Given the description of an element on the screen output the (x, y) to click on. 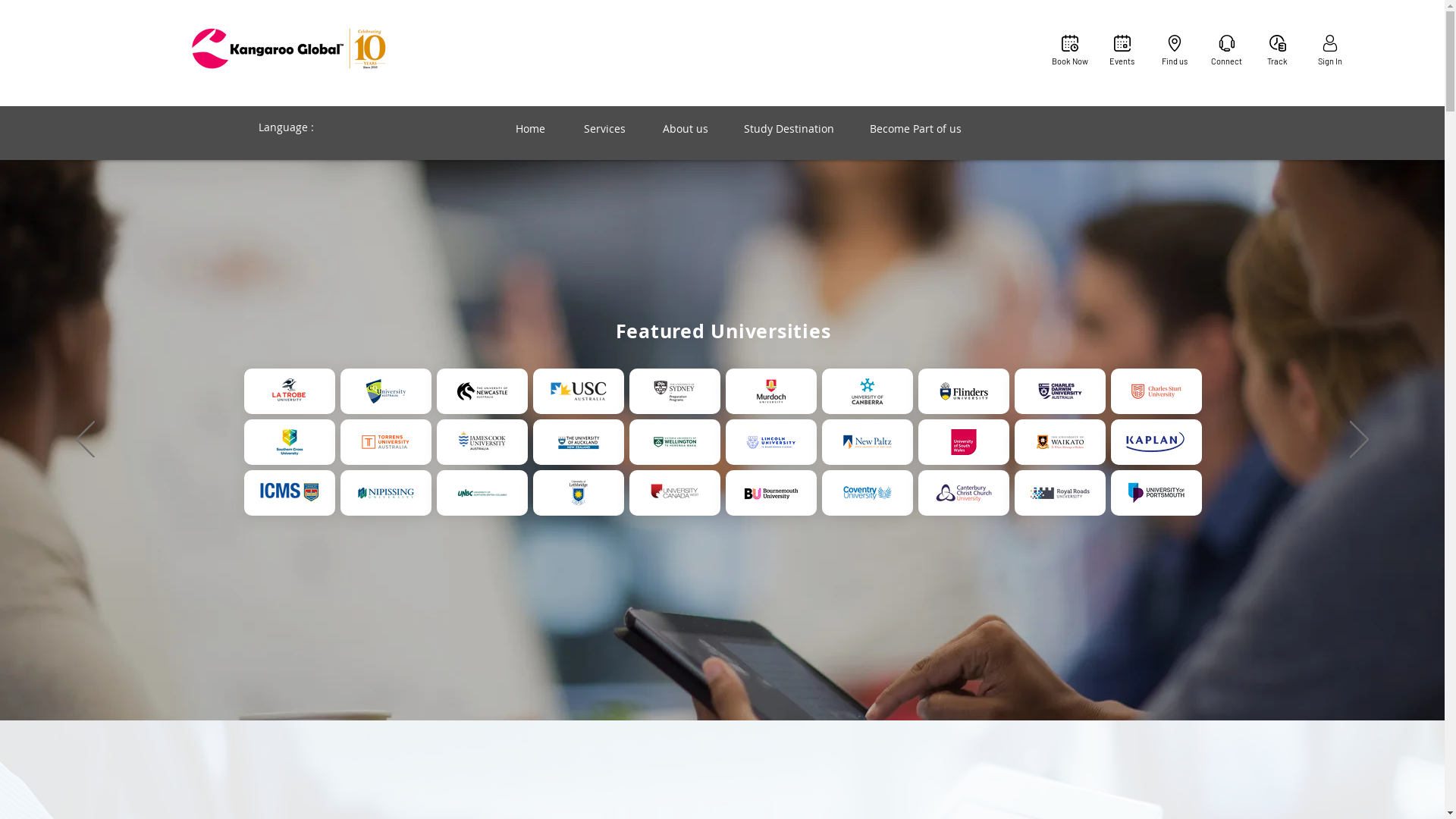
32.png Element type: hover (867, 441)
11.png Element type: hover (1059, 391)
31.png Element type: hover (289, 492)
Home Element type: text (529, 128)
About us Element type: text (684, 128)
42.png Element type: hover (962, 391)
43.png Element type: hover (962, 441)
39.png Element type: hover (867, 492)
Track Element type: text (1277, 50)
17.png Element type: hover (577, 441)
Events Element type: text (1121, 50)
8.png Element type: hover (674, 391)
45.png Element type: hover (769, 441)
13.png Element type: hover (384, 391)
30.png Element type: hover (1155, 441)
Book Now Element type: text (1069, 50)
6.png Element type: hover (289, 441)
36.png Element type: hover (481, 492)
9.png Element type: hover (1155, 391)
Services Element type: text (604, 128)
Sign In Element type: text (1329, 50)
Connect Element type: text (1226, 50)
1.png Element type: hover (289, 391)
15.png Element type: hover (1059, 441)
38.png Element type: hover (769, 492)
Become Part of us Element type: text (915, 128)
34.png Element type: hover (674, 492)
4.png Element type: hover (867, 391)
Find us Element type: text (1174, 50)
37.png Element type: hover (384, 492)
18.png Element type: hover (674, 441)
44.png Element type: hover (1155, 492)
5.png Element type: hover (384, 441)
usg logo-01-01.png Element type: hover (577, 391)
35.png Element type: hover (577, 492)
33.png Element type: hover (1059, 492)
10.png Element type: hover (769, 391)
7.png Element type: hover (481, 441)
3.png Element type: hover (481, 391)
Study Destination Element type: text (789, 128)
41.png Element type: hover (962, 492)
